Given the description of an element on the screen output the (x, y) to click on. 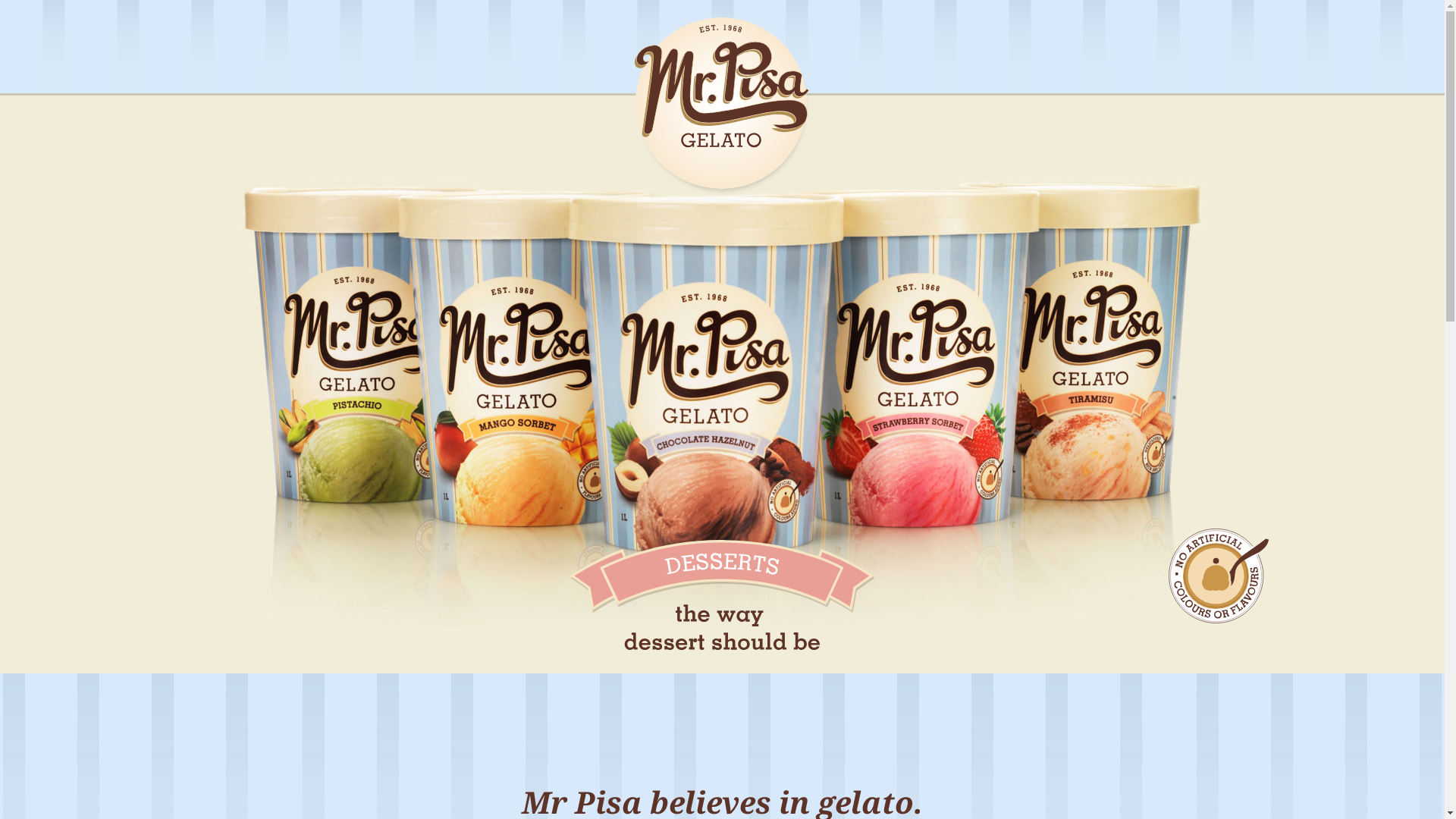
Mr Pisa Gelato Element type: hover (722, 107)
